Given the description of an element on the screen output the (x, y) to click on. 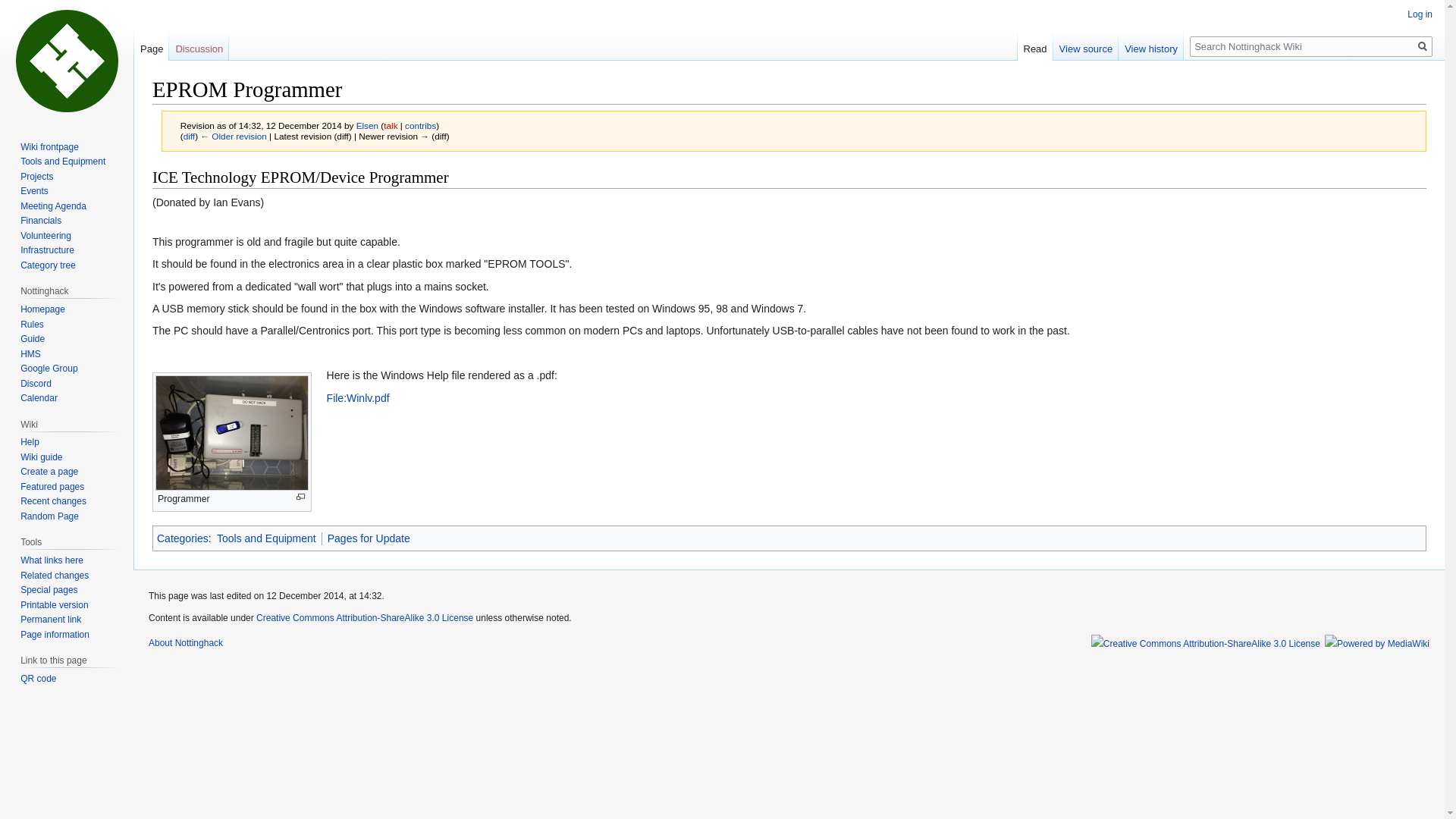
Read (1034, 45)
Search (1422, 46)
HMS (30, 353)
Enlarge (300, 497)
Google Group (48, 368)
Projects (36, 176)
EPROM Programmer (189, 135)
Categories (182, 538)
Volunteering (45, 235)
File:Winlv.pdf (358, 398)
